Given the description of an element on the screen output the (x, y) to click on. 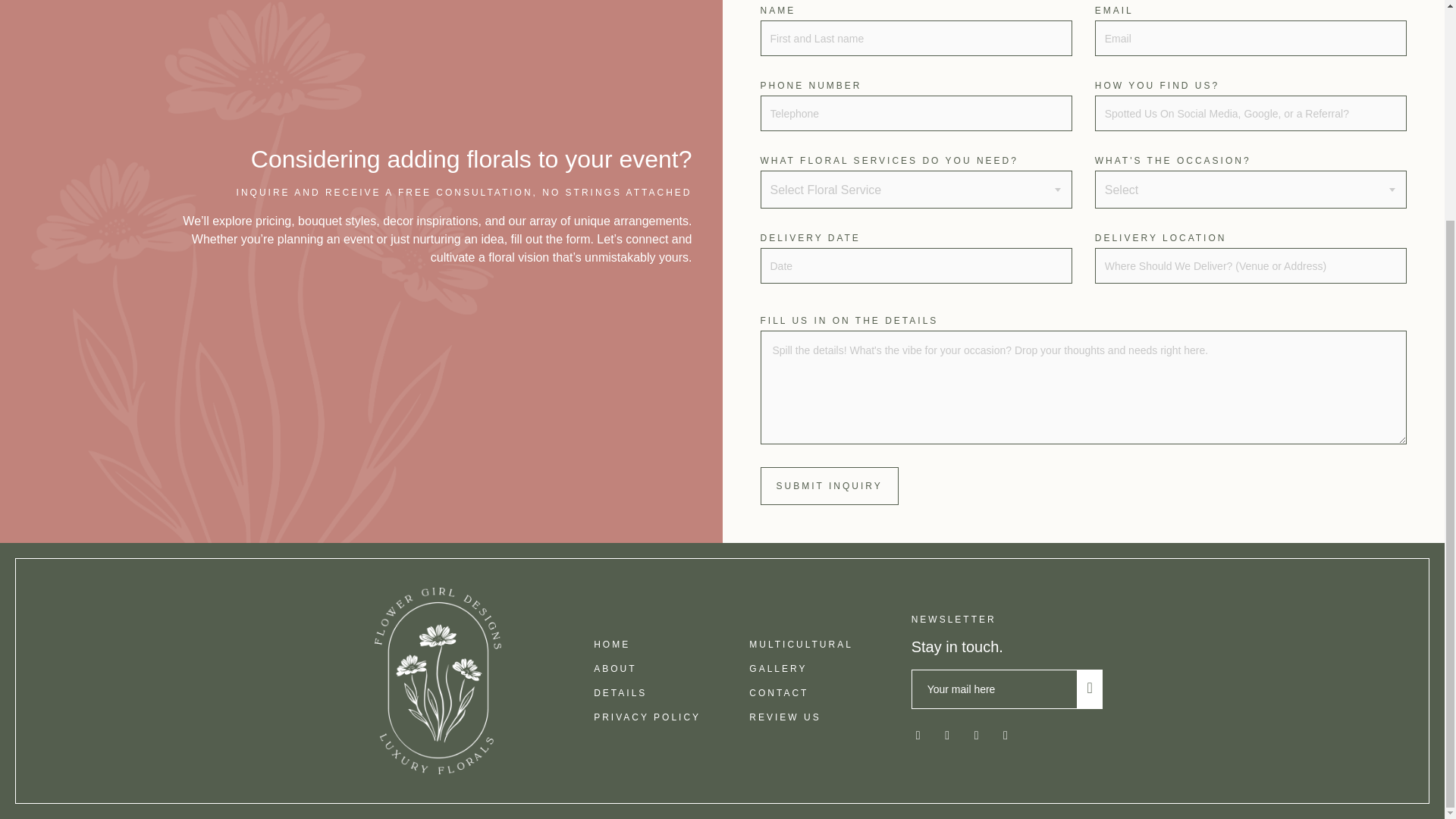
ABOUT (615, 668)
GALLERY (777, 668)
REVIEW US (785, 716)
DETAILS (620, 692)
MULTICULTURAL (801, 644)
CONTACT (778, 692)
SUBMIT INQUIRY (829, 485)
HOME (612, 644)
